Given the description of an element on the screen output the (x, y) to click on. 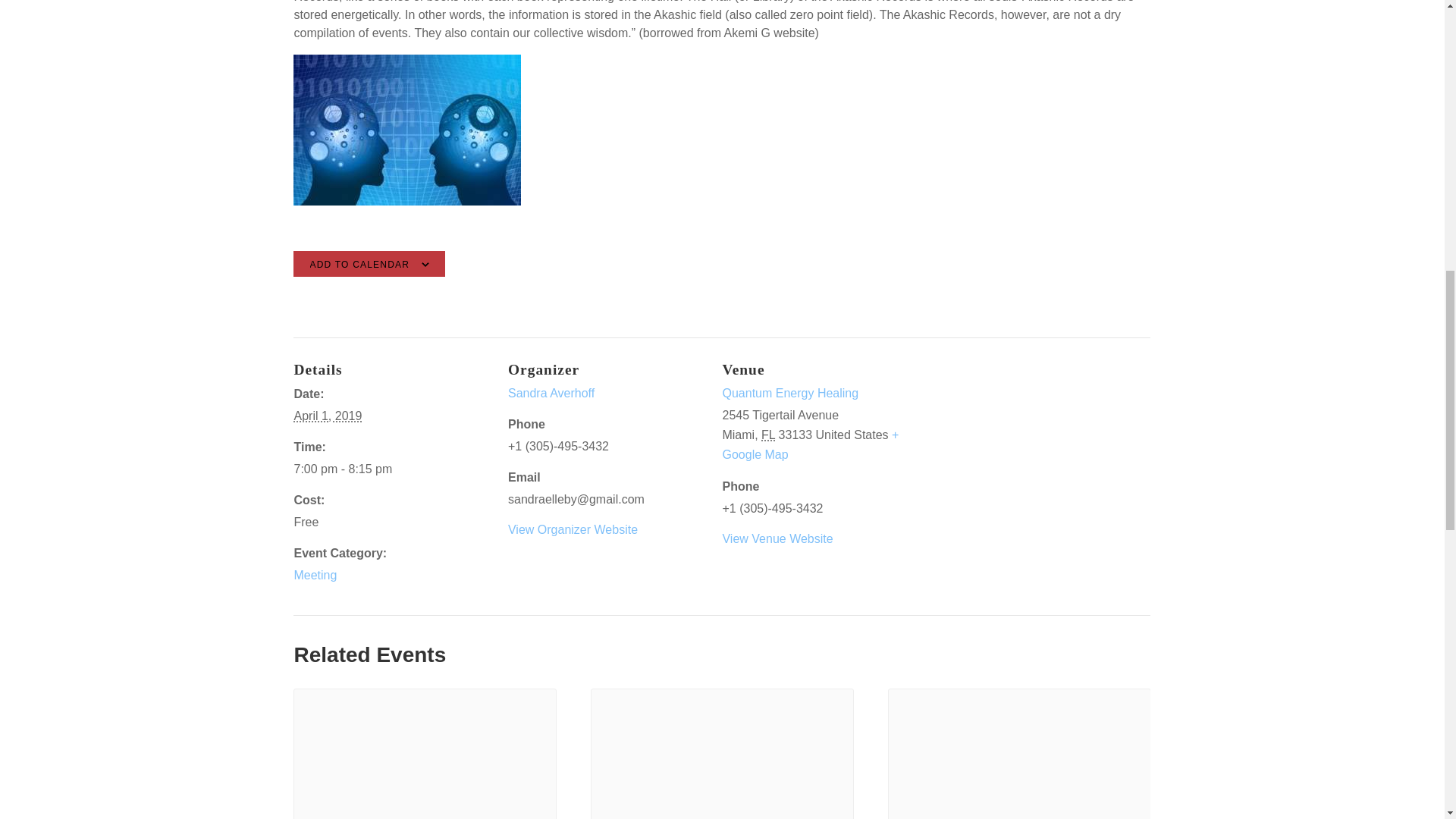
Florida (767, 434)
2019-04-01 (391, 469)
View Organizer Website (572, 529)
2019-04-01 (327, 415)
ADD TO CALENDAR (360, 264)
View Venue Website (777, 538)
Sandra Averhoff (551, 392)
Meeting (315, 574)
Click to view a Google Map (810, 444)
Quantum Energy Healing (790, 392)
Sandra Averhoff (551, 392)
